Given the description of an element on the screen output the (x, y) to click on. 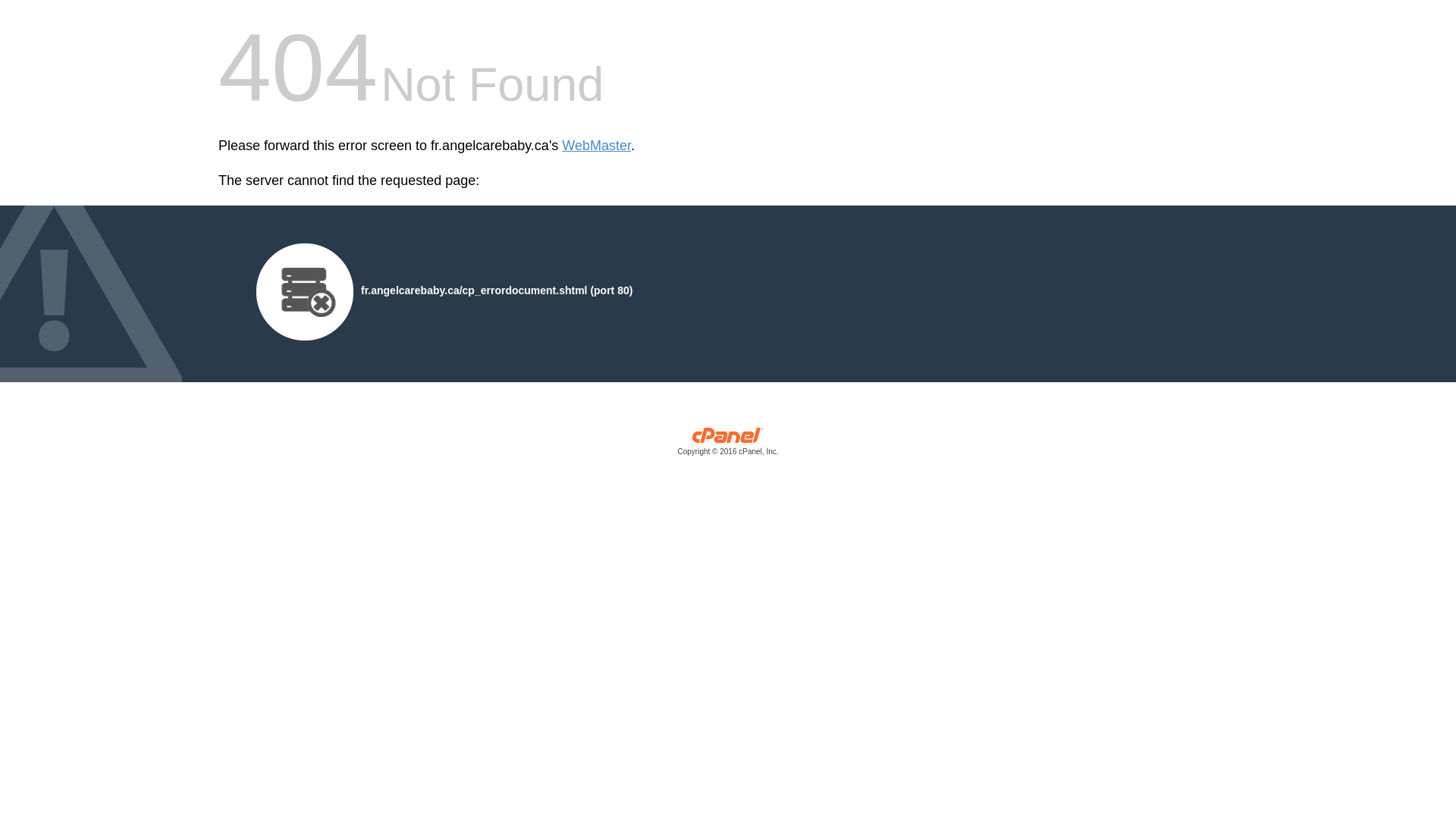
WebMaster Element type: text (595, 145)
